Given the description of an element on the screen output the (x, y) to click on. 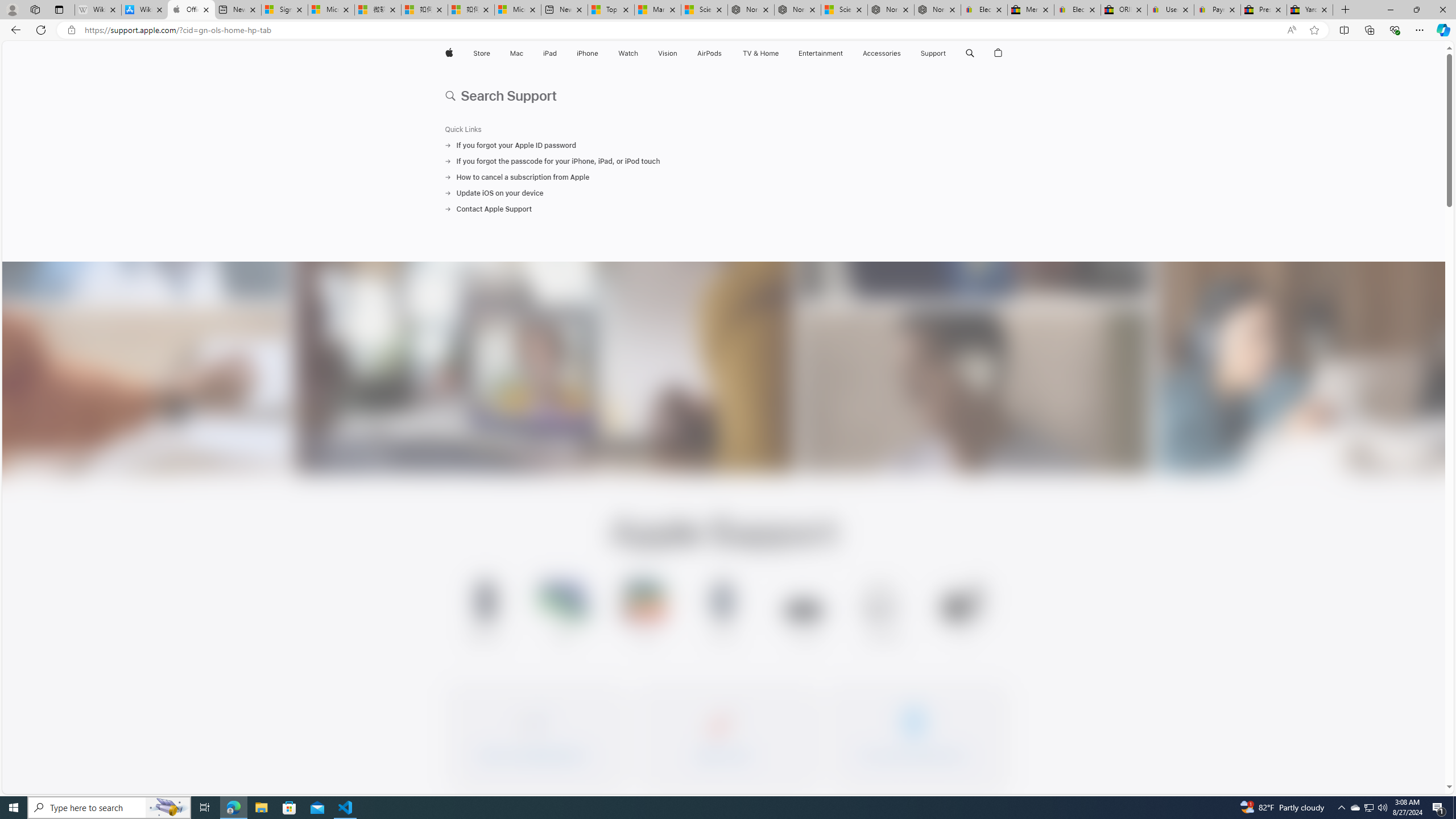
Search Support (724, 93)
Update iOS on your device (723, 192)
Support (932, 53)
Mac menu (524, 53)
TV and Home menu (780, 53)
Mac (516, 53)
